Given the description of an element on the screen output the (x, y) to click on. 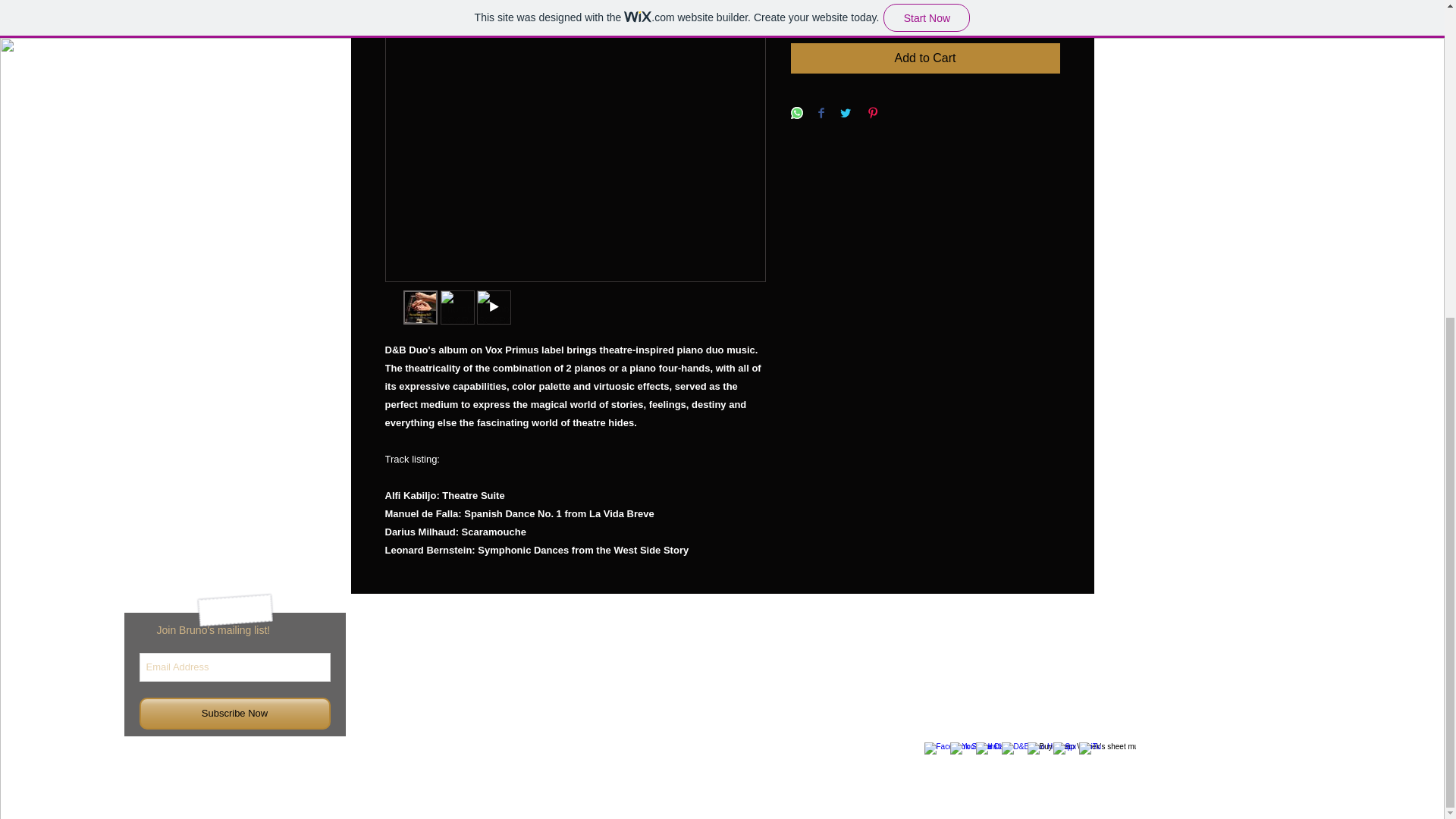
Twitter Tweet (1126, 765)
Facebook Like (1197, 743)
Subscribe Now (234, 713)
1 (818, 9)
Add to Cart (924, 58)
